Given the description of an element on the screen output the (x, y) to click on. 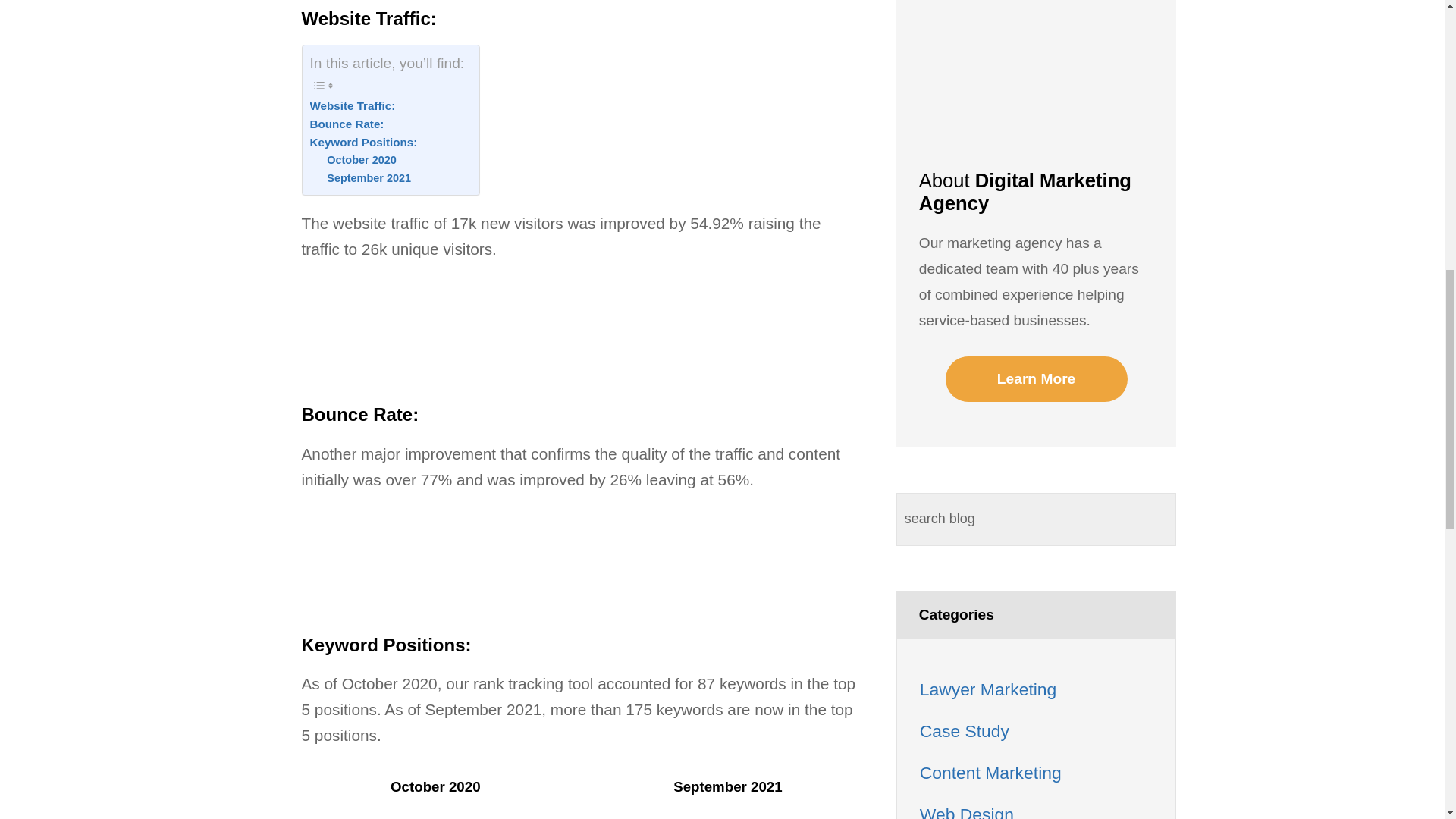
Case Study (964, 731)
Keyword Positions: (362, 142)
Learn More (1035, 379)
Bounce Rate: (346, 124)
September 2021 (368, 178)
Website Traffic: (351, 106)
October 2020 (361, 159)
September 2021 (368, 178)
October 2020 (361, 159)
Lawyer Marketing (988, 689)
